Given the description of an element on the screen output the (x, y) to click on. 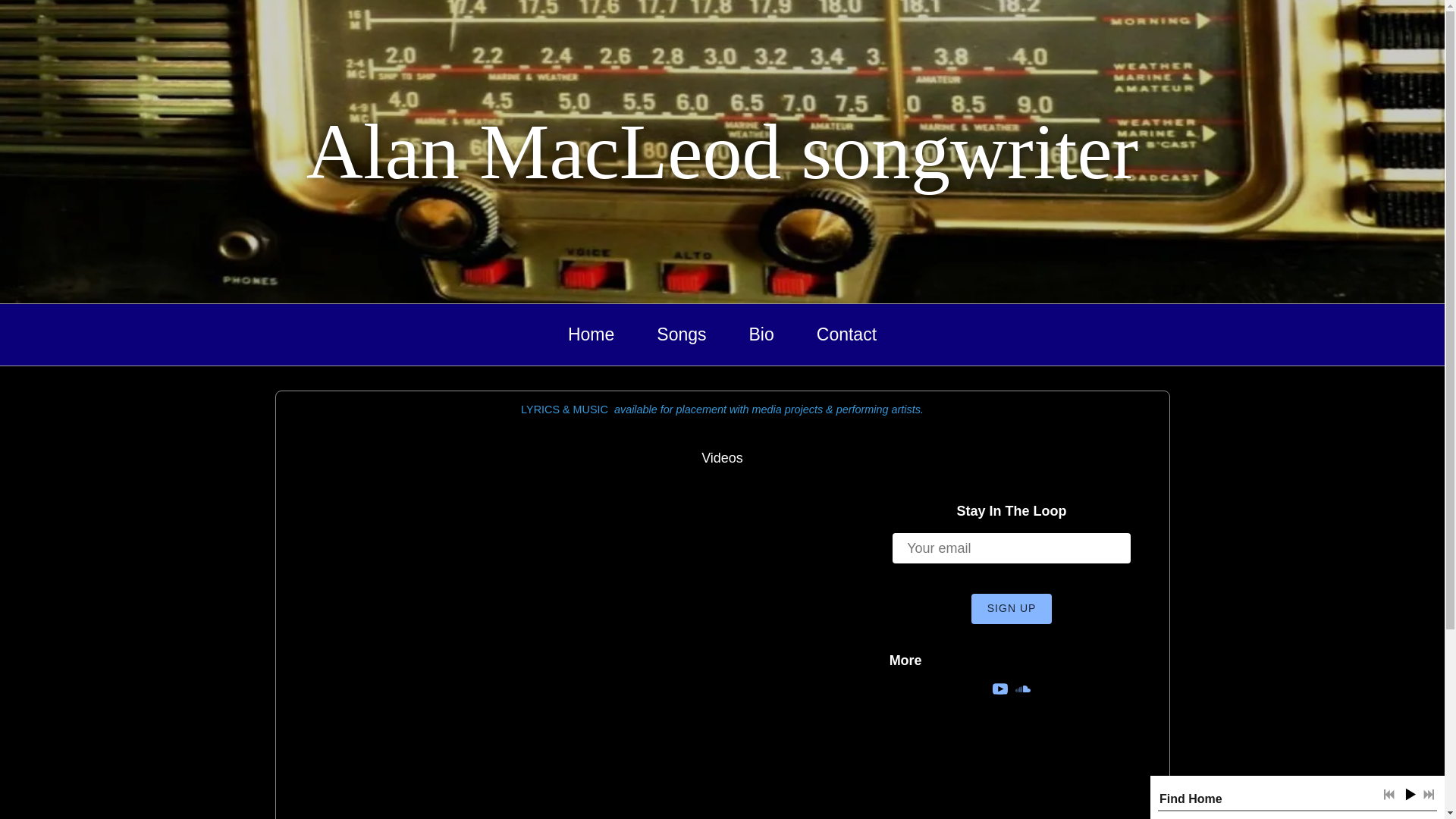
Previous track Element type: hover (1389, 794)
Contact Element type: text (846, 334)
Home Element type: text (590, 334)
Next track Element type: hover (1428, 794)
Play Element type: hover (1409, 793)
SIGN UP Element type: text (1011, 608)
Alan MacLeod songwriter Element type: text (722, 171)
Bio Element type: text (761, 334)
Songs Element type: text (681, 334)
https://soundcloud.com/alan-p-macleod/tracks Element type: hover (1022, 691)
